Given the description of an element on the screen output the (x, y) to click on. 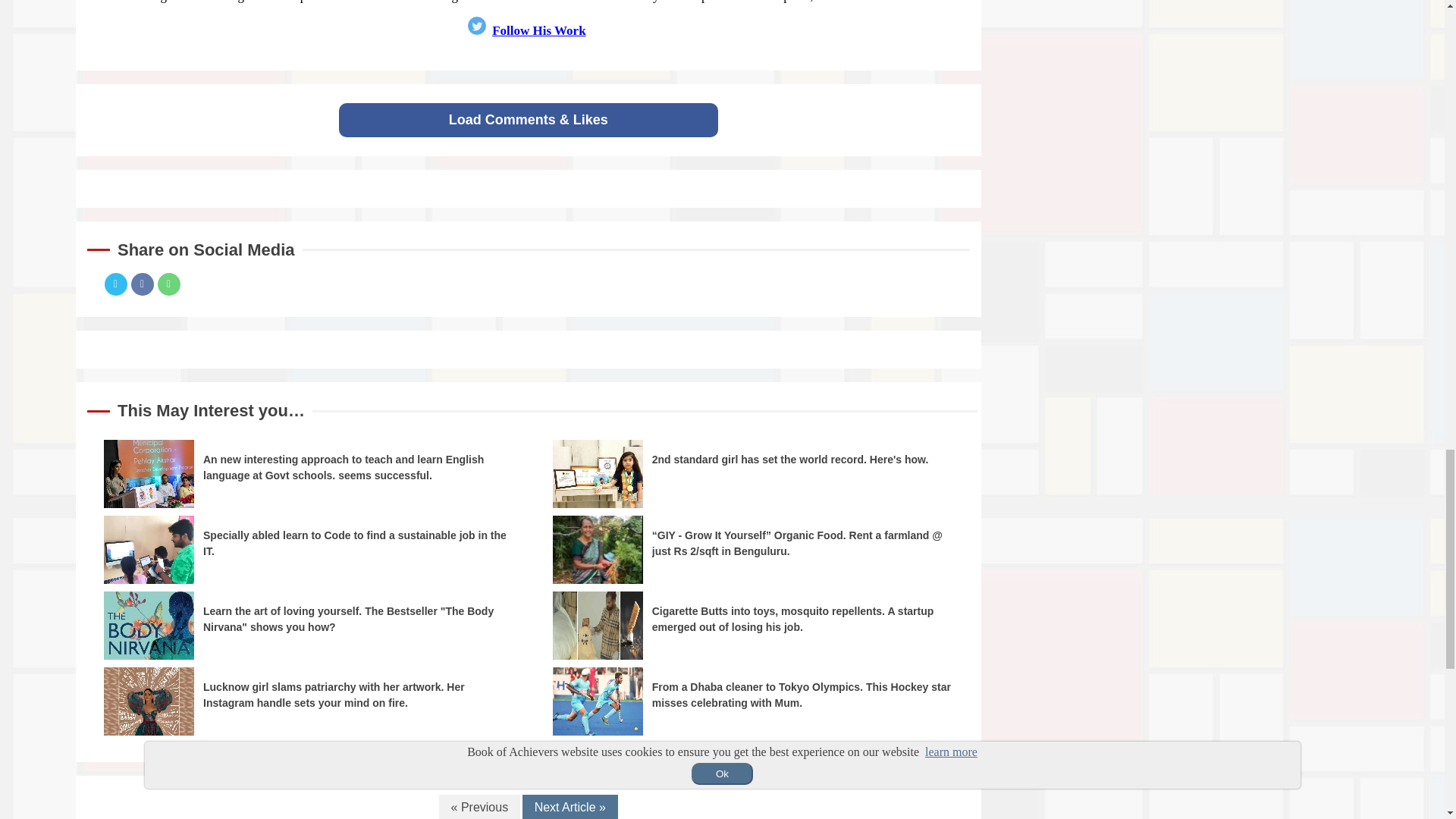
Share on Facebook (141, 283)
Share on Twitter (116, 283)
Share on Whatsapp (168, 283)
